Given the description of an element on the screen output the (x, y) to click on. 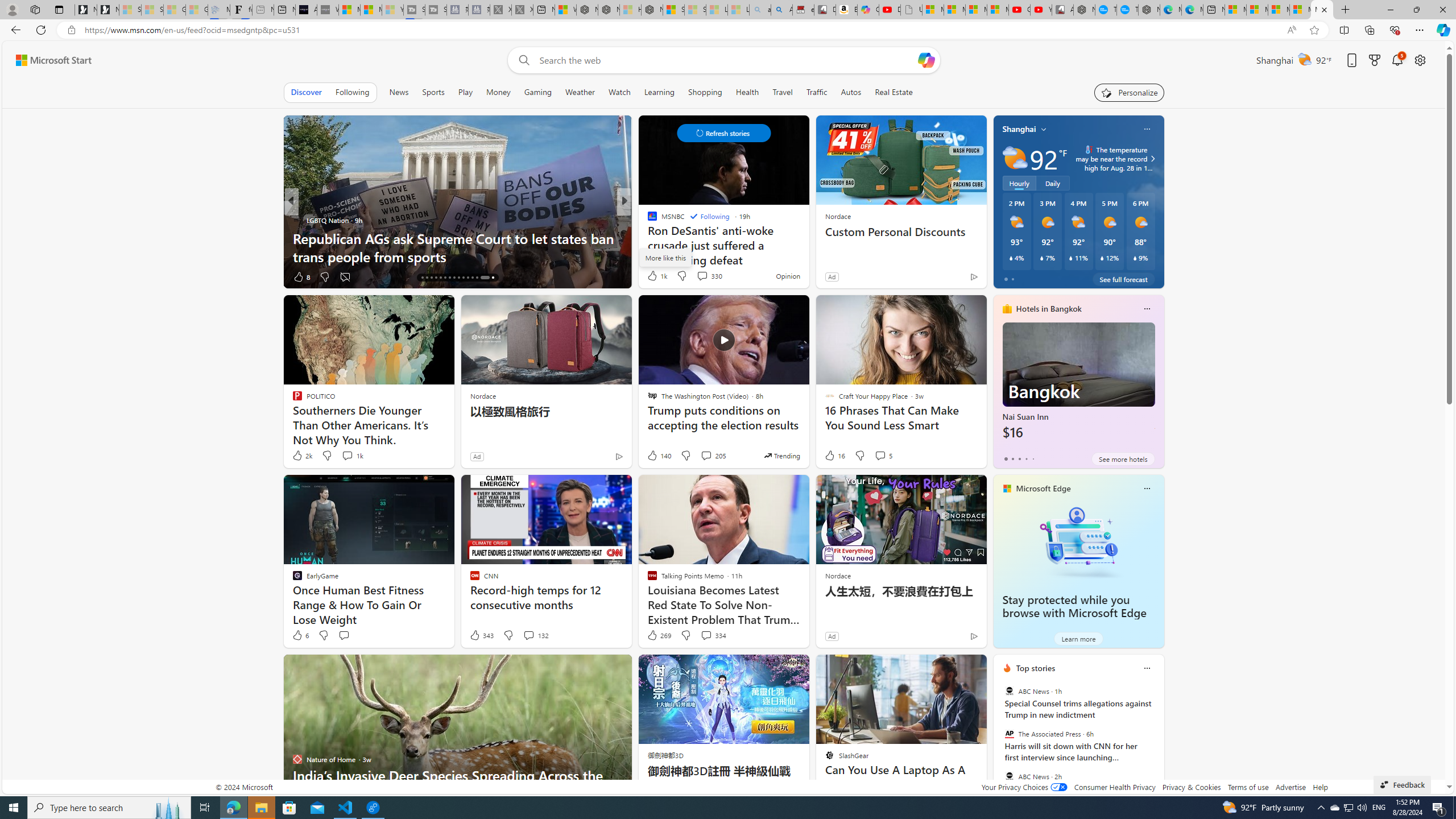
AutomationID: tab-29 (481, 277)
AI Voice Changer for PC and Mac - Voice.ai (306, 9)
View comments 132 Comment (528, 635)
AutomationID: tab-24 (458, 277)
16 Like (834, 455)
Privacy & Cookies (1191, 786)
